Given the description of an element on the screen output the (x, y) to click on. 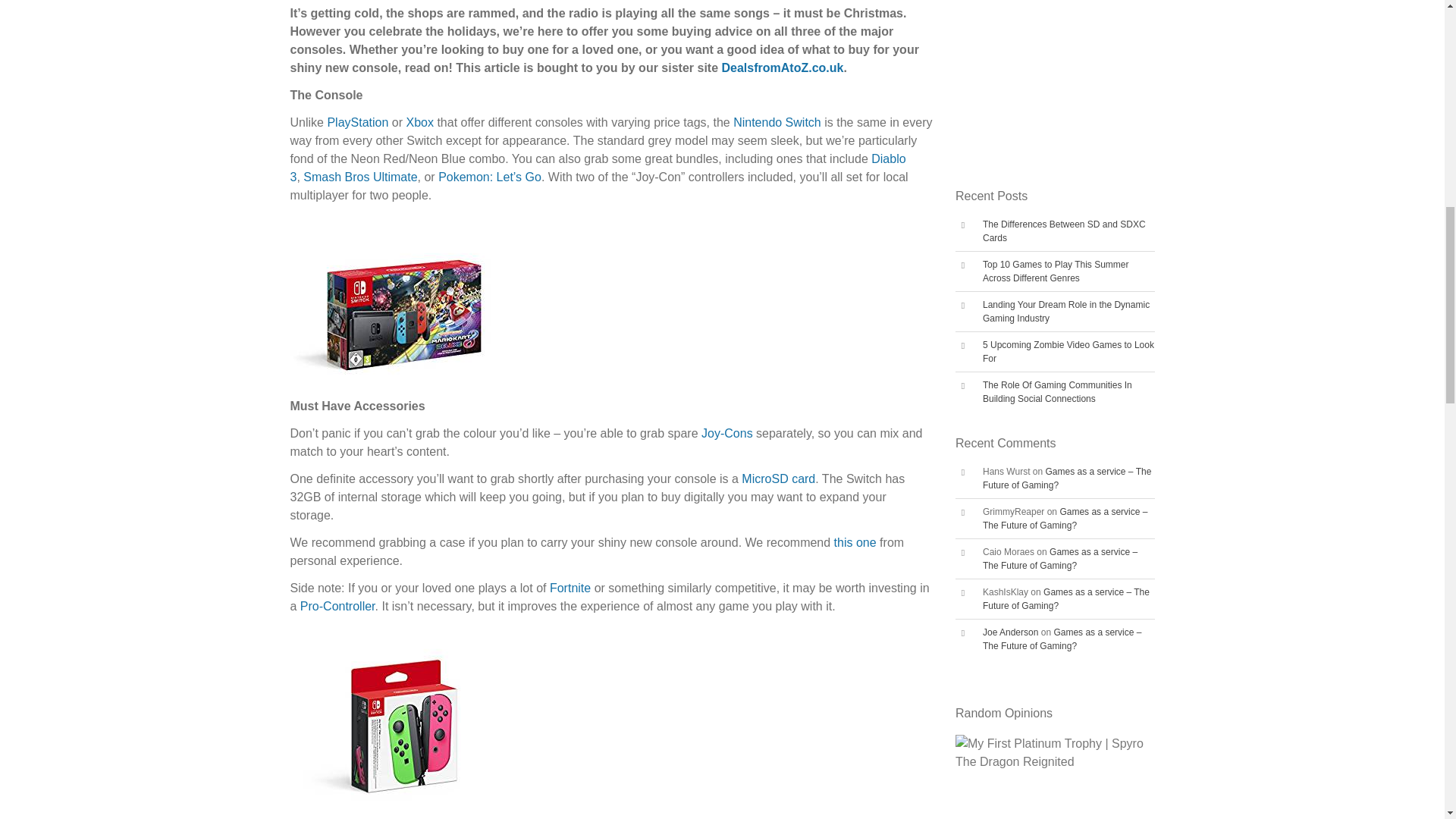
Fortnite (570, 587)
PlayStation (357, 122)
MicroSD card (778, 478)
Diablo 3 (597, 167)
Nintendo Switch (777, 122)
Pro-Controller (337, 605)
Xbox (419, 122)
this one (855, 542)
Smash Bros Ultimate (359, 176)
Joy-Cons (726, 432)
